Given the description of an element on the screen output the (x, y) to click on. 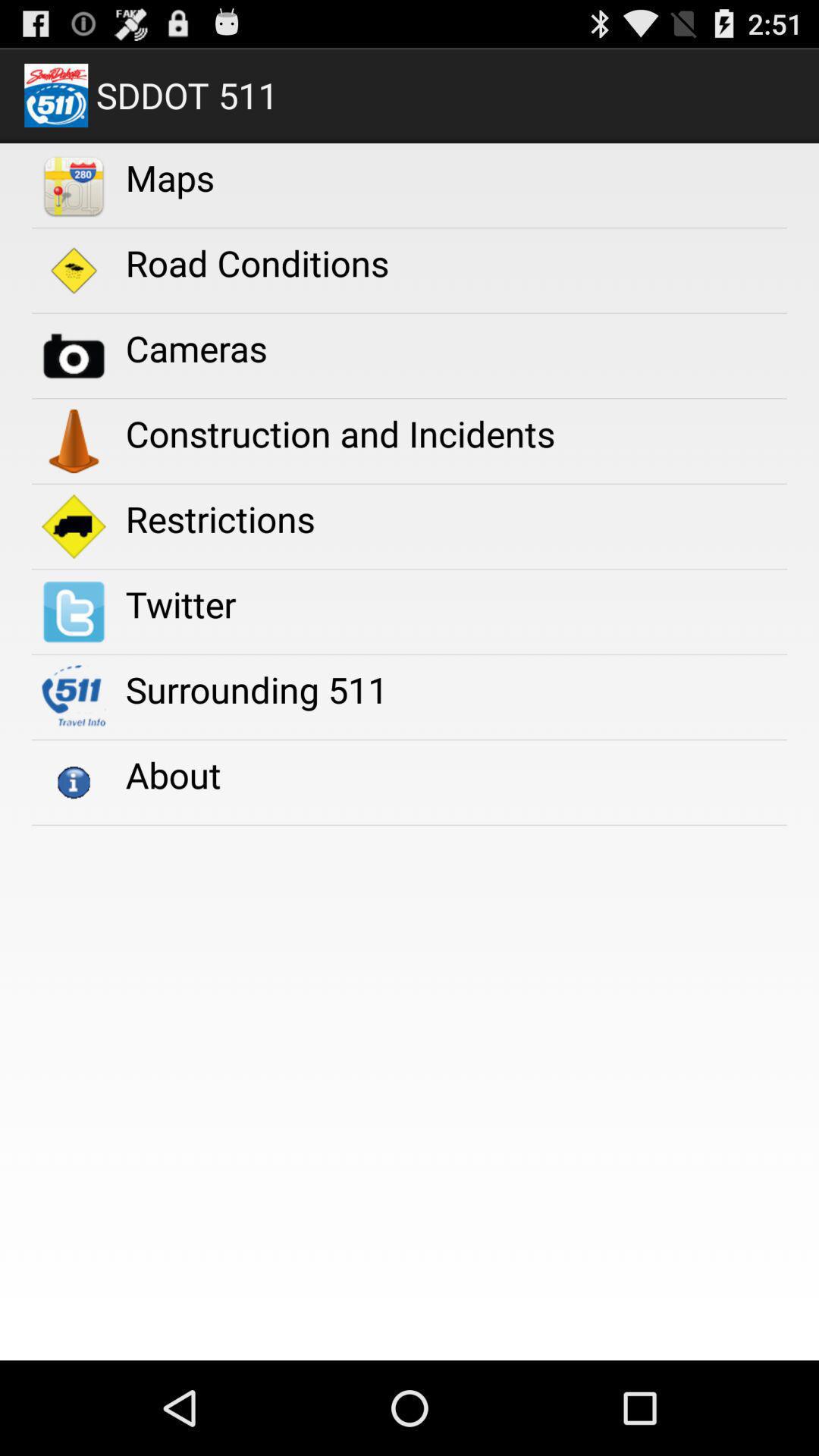
press construction and incidents at the top (340, 433)
